Given the description of an element on the screen output the (x, y) to click on. 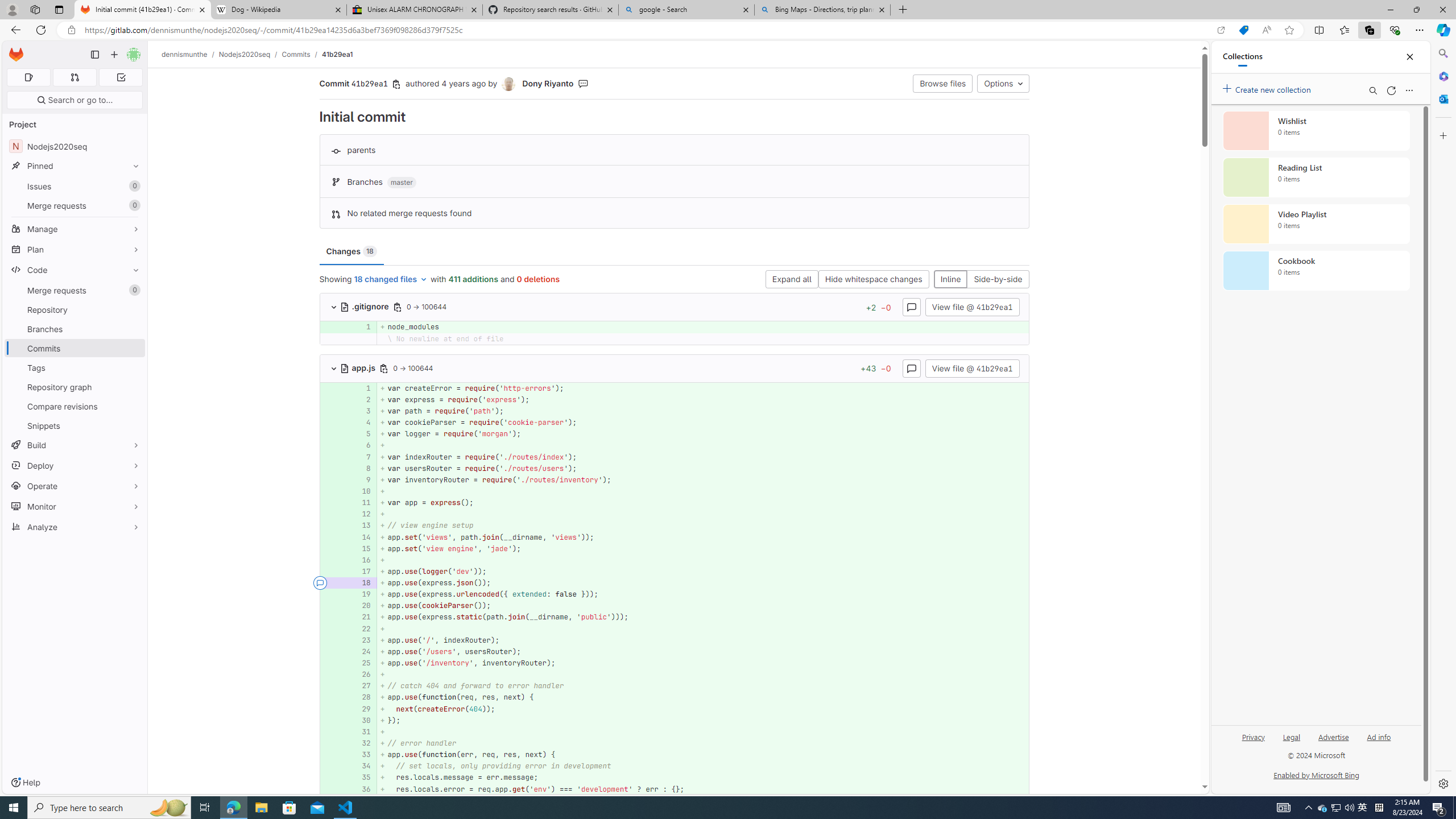
Ad info (1378, 736)
Merge requests 0 (74, 76)
NNodejs2020seq (74, 145)
dennismunthe (184, 53)
AutomationID: 4a68969ef8e858229267b842dedf42ab5dde4d50_0_1 (674, 387)
12 (360, 514)
Nodejs2020seq (244, 53)
Pin Repository graph (132, 386)
+  (703, 731)
7 (362, 456)
AutomationID: 4a68969ef8e858229267b842dedf42ab5dde4d50_0_3 (674, 410)
Assigned issues 0 (28, 76)
15 (360, 548)
32 (362, 743)
